Given the description of an element on the screen output the (x, y) to click on. 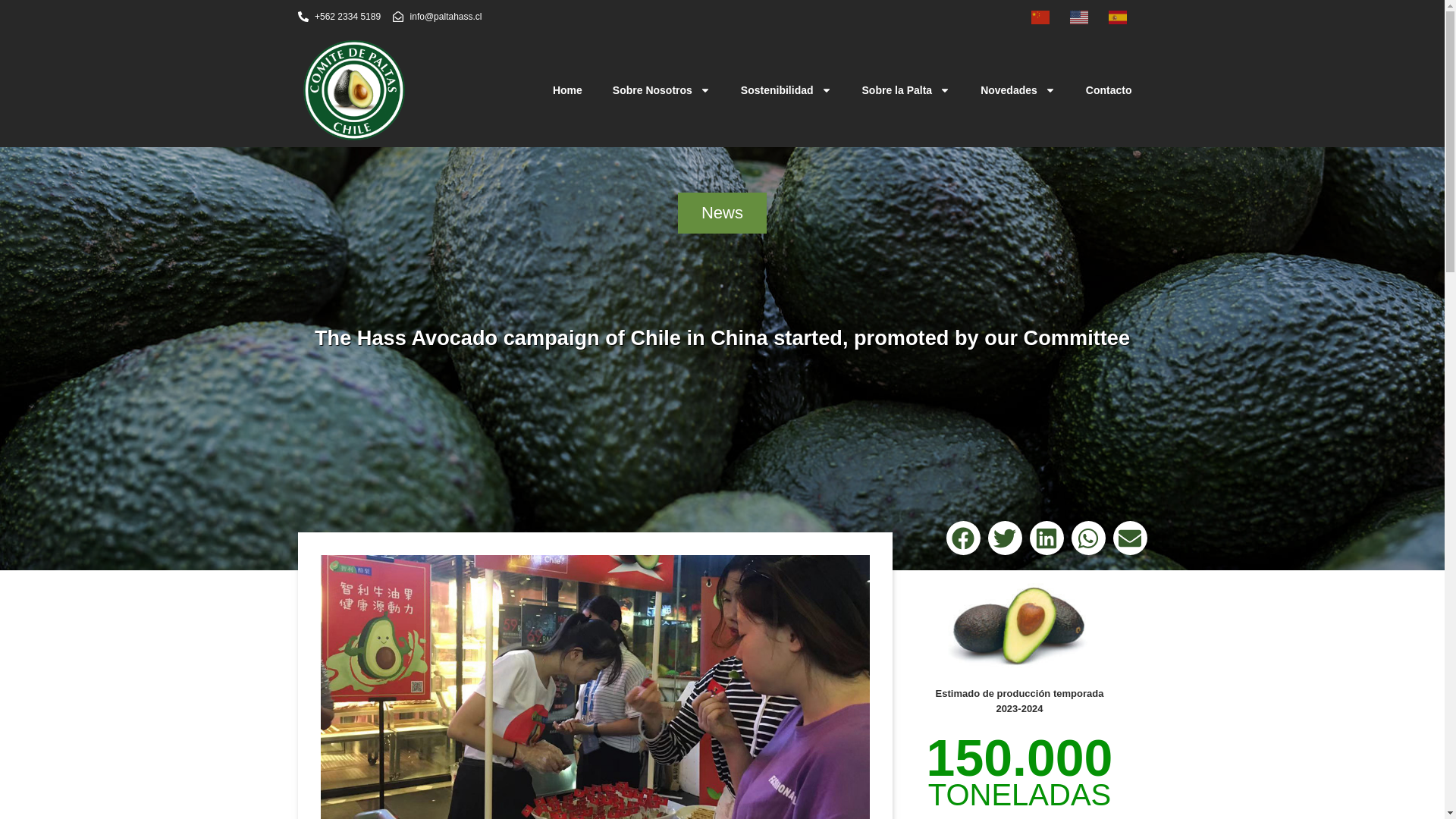
Sostenibilidad (786, 89)
Sobre Nosotros (660, 89)
Sobre la Palta (906, 89)
Novedades (1017, 89)
English (1088, 15)
Contacto (1108, 89)
Spanish (1127, 15)
Home (566, 89)
